Given the description of an element on the screen output the (x, y) to click on. 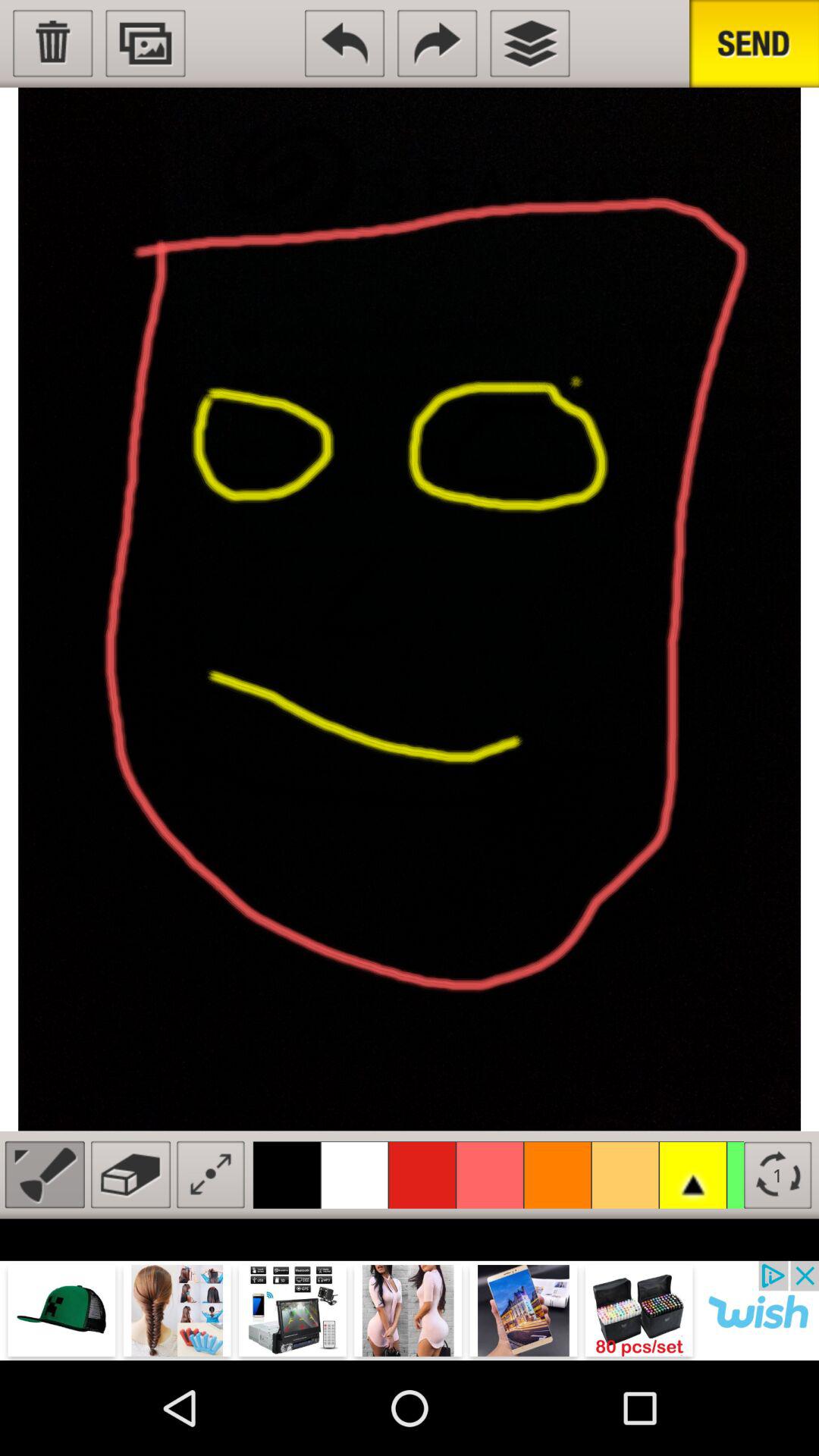
go to back (344, 43)
